Given the description of an element on the screen output the (x, y) to click on. 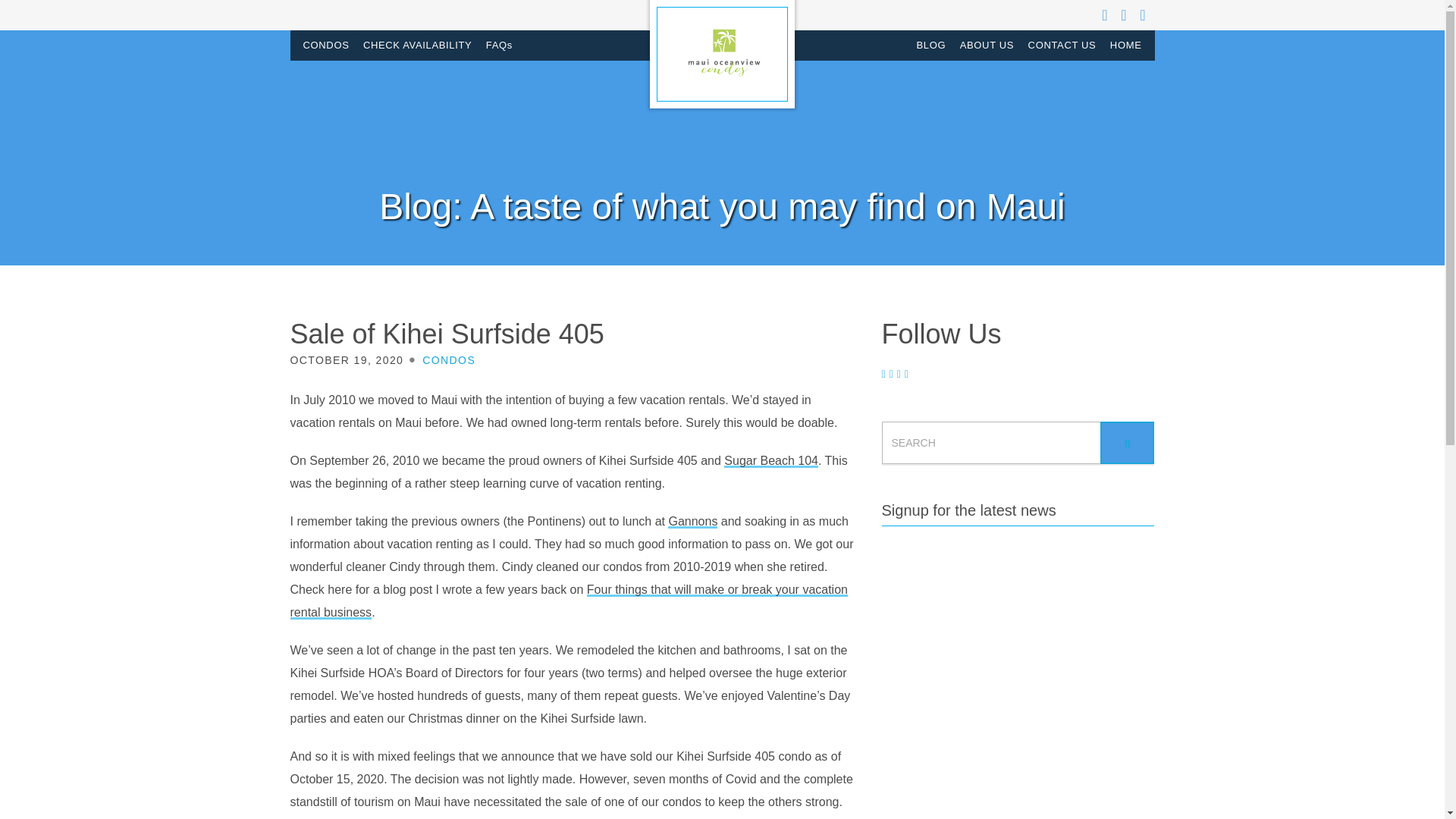
ABOUT US (987, 45)
CONDOS (325, 45)
FAQs (499, 45)
Find us on Facebook (1105, 14)
BLOG (931, 45)
CONTACT US (1062, 45)
Sugar Beach 104 (770, 460)
Maui Oceanview on Youtube (1143, 14)
CHECK AVAILABILITY (417, 45)
HOME (1126, 45)
Maui Oceanview on Instagram (1123, 14)
CONDOS (449, 359)
Gannons (692, 521)
